Given the description of an element on the screen output the (x, y) to click on. 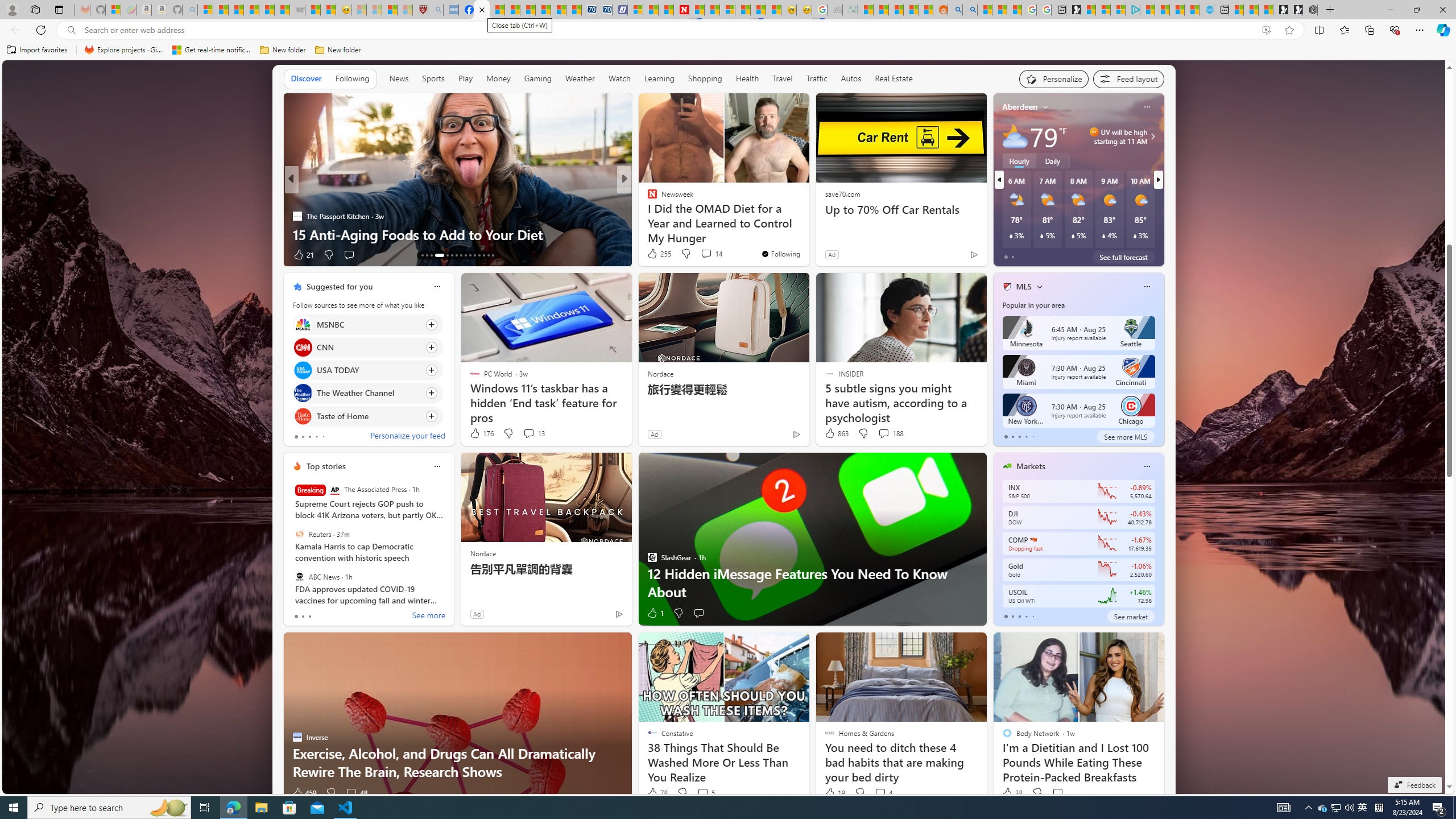
AutomationID: tab-69 (435, 255)
View comments 5 Comment (703, 792)
Cheap Hotels - Save70.com (604, 9)
View comments 13 Comment (528, 432)
10 Strength Exercises for Beginners To Melt Love Handles (807, 225)
Up to 70% Off Car Rentals (900, 210)
View comments 13 Comment (533, 433)
Reuters (299, 533)
MSNBC (302, 324)
